Given the description of an element on the screen output the (x, y) to click on. 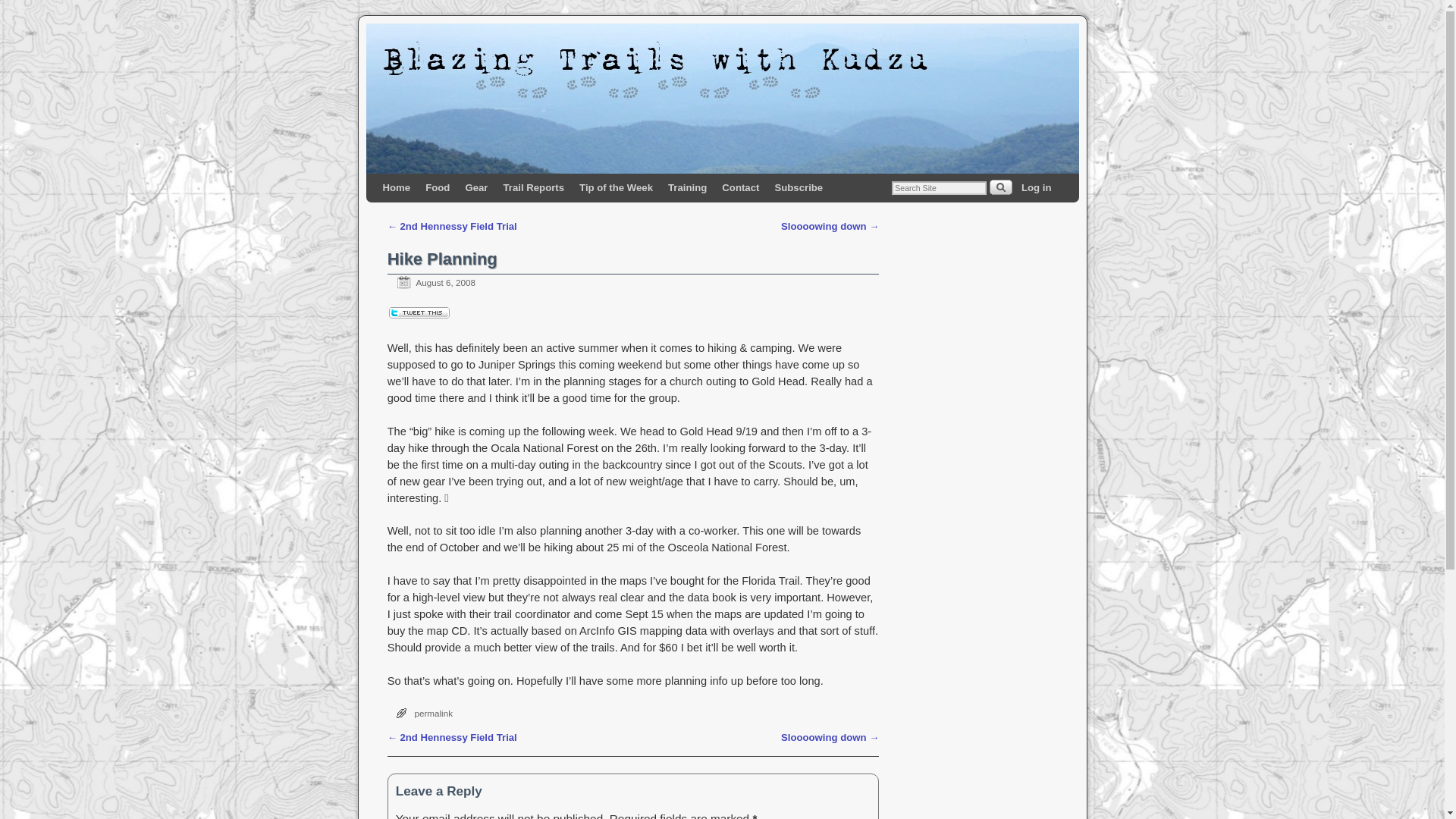
Permalink to Hike Planning (432, 713)
Skip to secondary content (451, 187)
Gear (476, 187)
Home (395, 187)
1:36 pm (431, 282)
Post to Twitter (418, 314)
Skip to primary content (444, 187)
Permalink to Hike Planning (442, 258)
Food (437, 187)
